Given the description of an element on the screen output the (x, y) to click on. 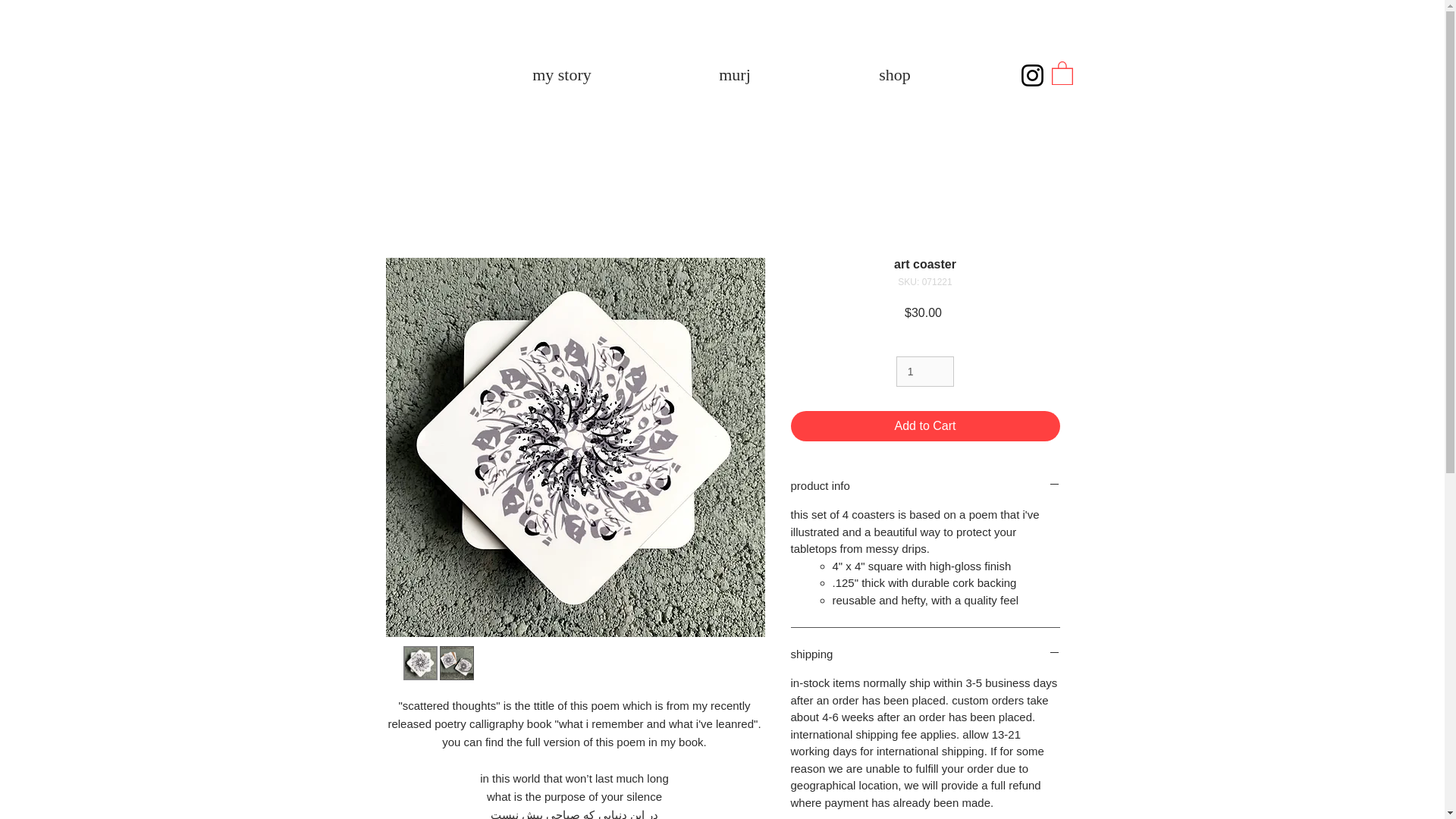
murj (735, 74)
Add to Cart (924, 426)
product info (924, 485)
shipping (924, 653)
1 (924, 371)
my story (560, 74)
shop (893, 74)
